Given the description of an element on the screen output the (x, y) to click on. 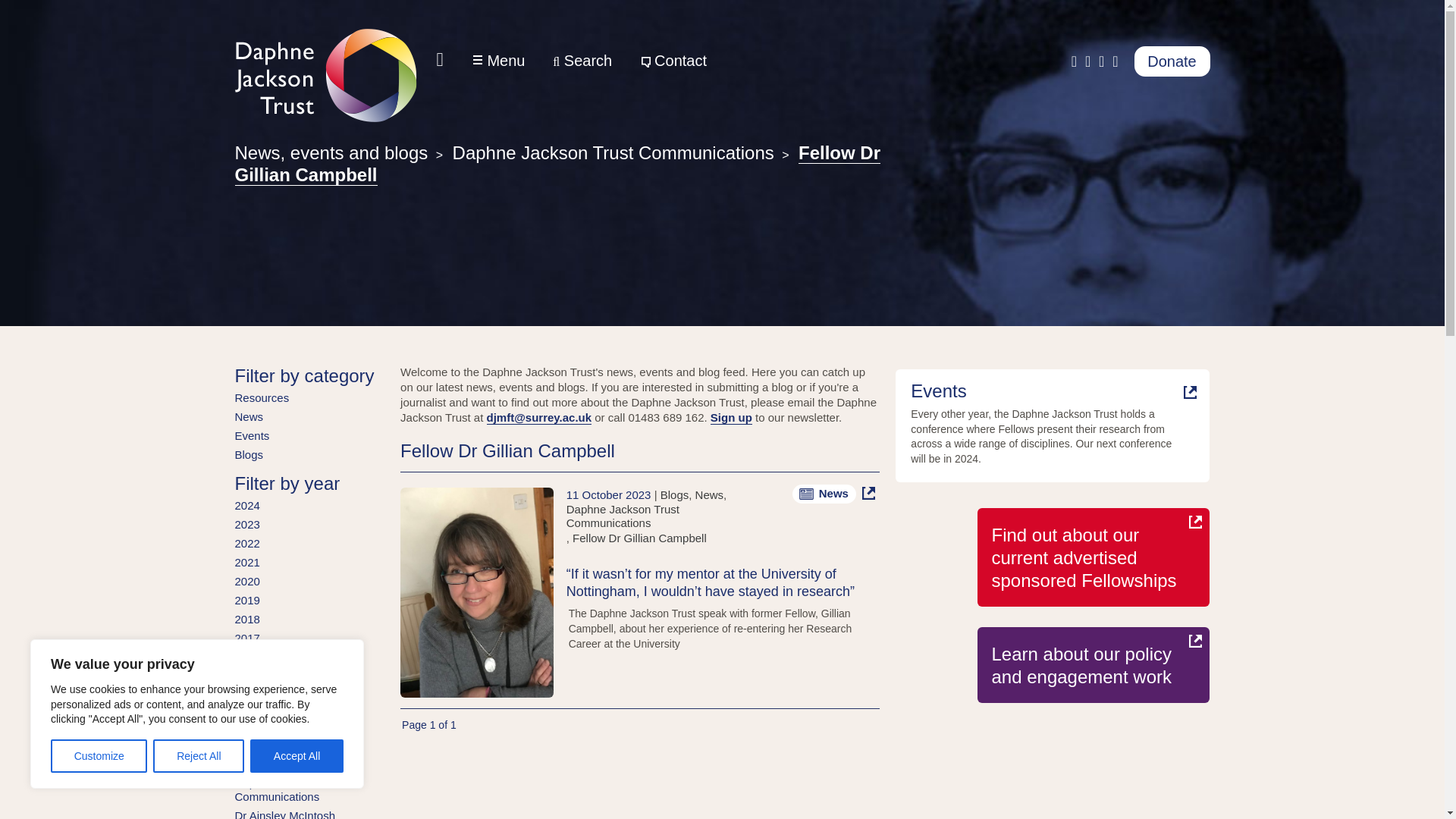
Customize (98, 756)
Go to News, events and blogs. (331, 152)
Daphne Jackson Trust (325, 75)
Contact (674, 60)
Reject All (198, 756)
Accept All (296, 756)
